Given the description of an element on the screen output the (x, y) to click on. 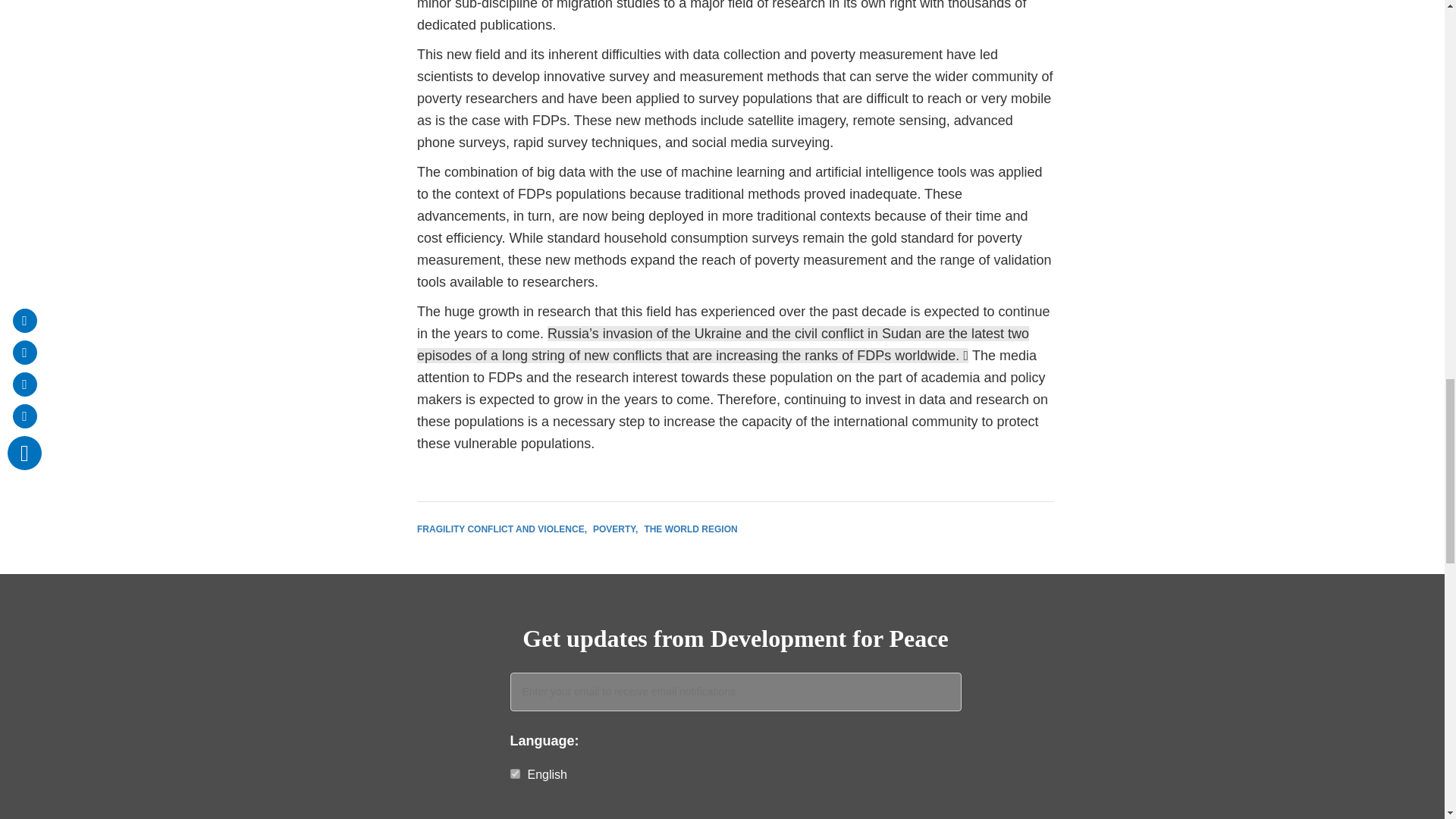
THE WORLD REGION (689, 529)
FRAGILITY CONFLICT AND VIOLENCE (501, 529)
POVERTY (614, 529)
en (514, 773)
